Given the description of an element on the screen output the (x, y) to click on. 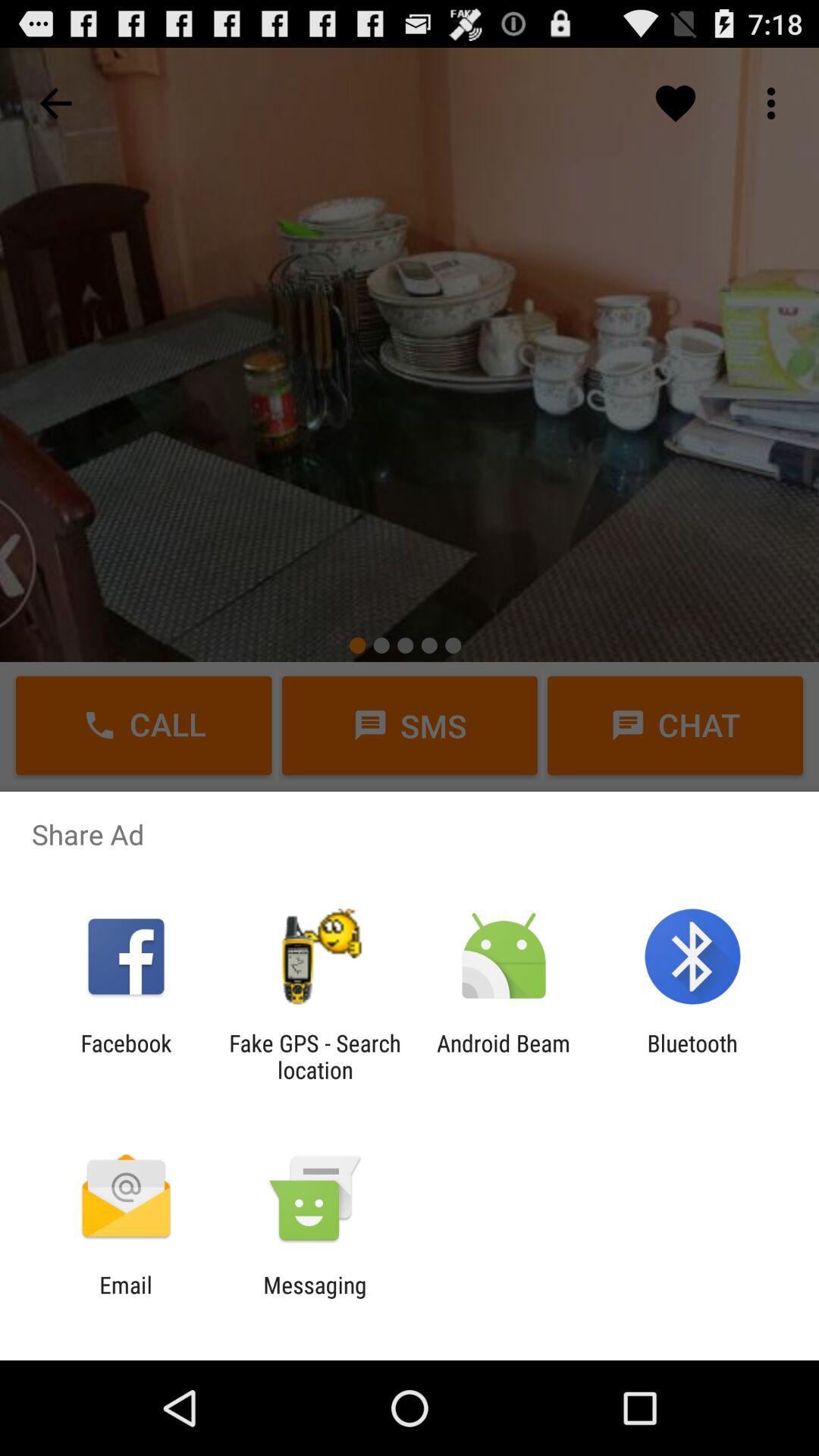
turn on item next to the fake gps search icon (125, 1056)
